Given the description of an element on the screen output the (x, y) to click on. 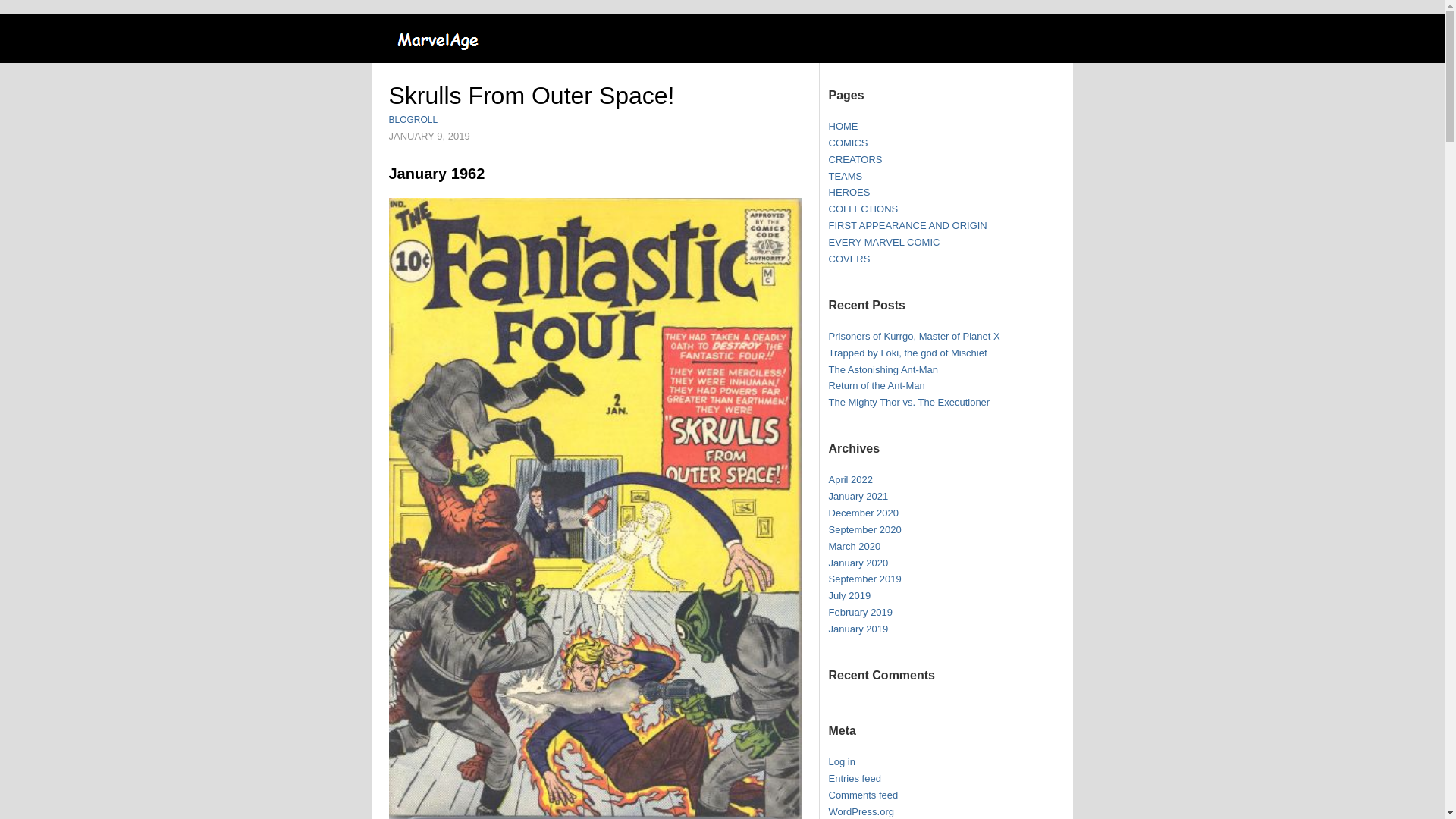
The Mighty Thor vs. The Executioner (909, 401)
April 2022 (850, 479)
CREATORS (855, 159)
Trapped by Loki, the god of Mischief (907, 352)
The Astonishing Ant-Man (882, 369)
BLOGROLL (413, 119)
HOME (842, 125)
September 2020 (864, 529)
COMICS (847, 142)
March 2020 (854, 546)
December 2020 (863, 512)
View all posts in BLOGROLL (413, 119)
COVERS (848, 258)
Prisoners of Kurrgo, Master of Planet X (913, 336)
TEAMS (844, 175)
